Given the description of an element on the screen output the (x, y) to click on. 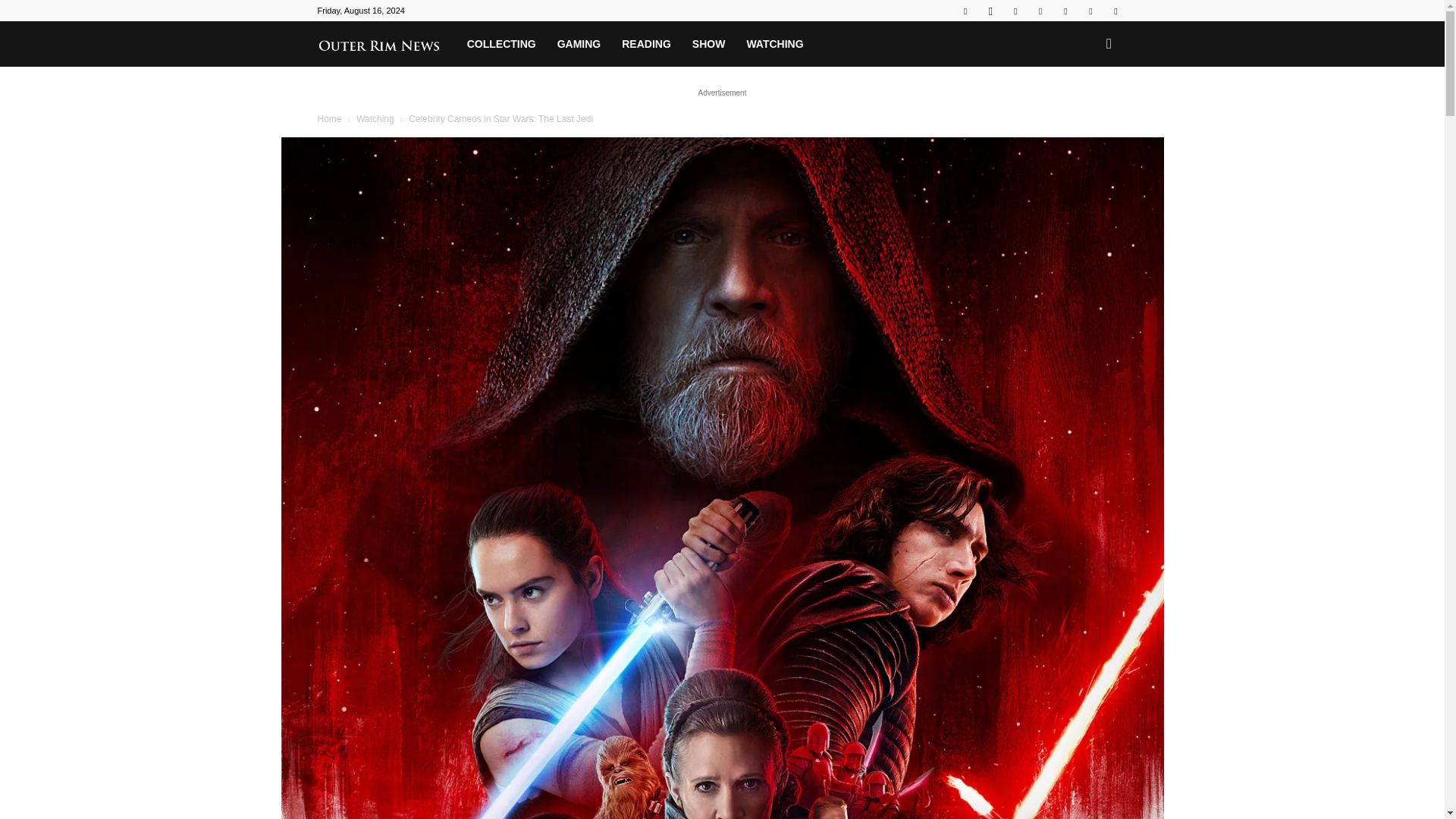
Mail (1015, 10)
COLLECTING (502, 43)
Instagram (989, 10)
Facebook (964, 10)
Tumblr (1065, 10)
Pinterest (1040, 10)
Outer Rim News (386, 43)
